Given the description of an element on the screen output the (x, y) to click on. 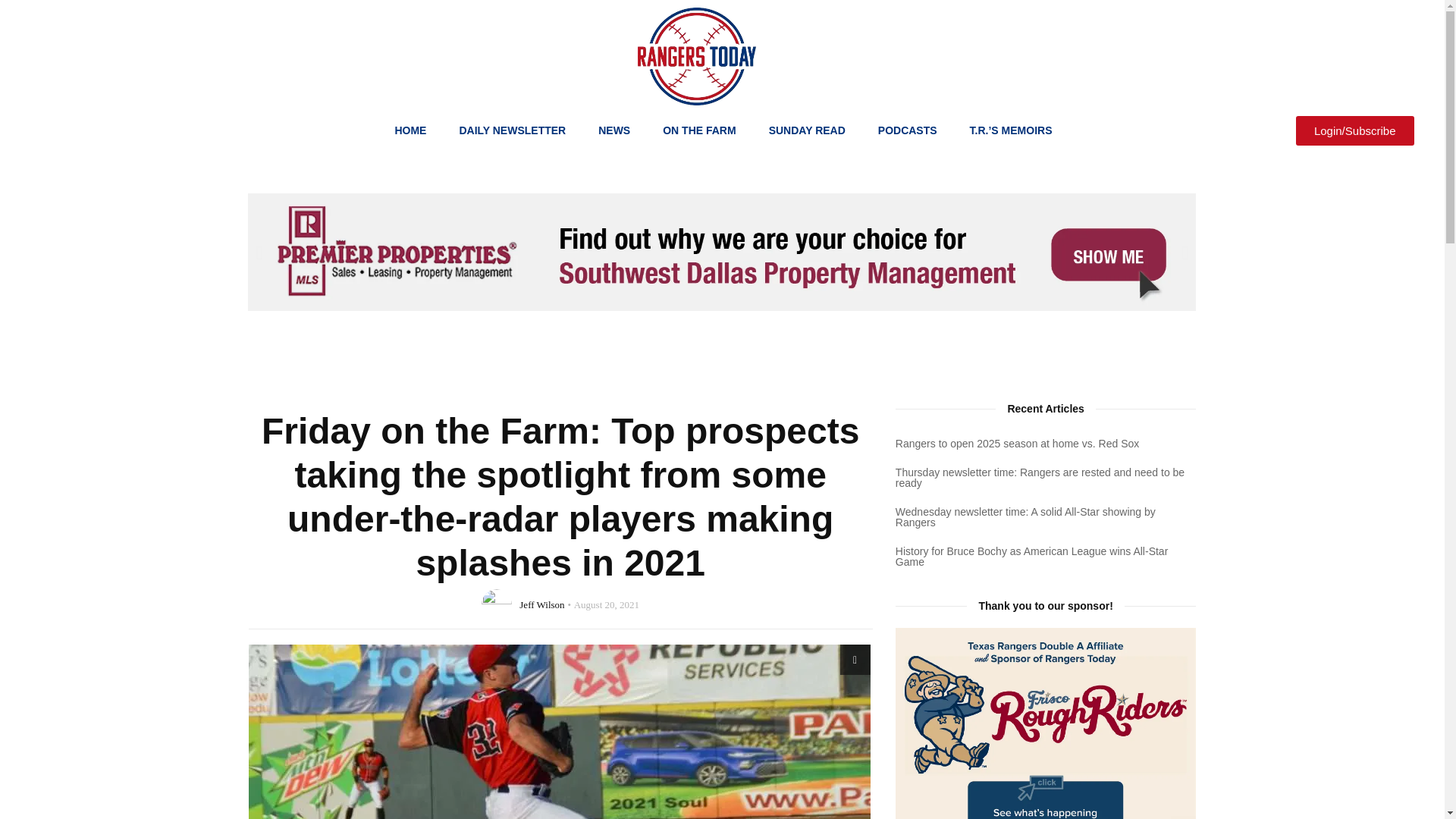
HOME (409, 130)
ON THE FARM (699, 130)
SUNDAY READ (807, 130)
DAILY NEWSLETTER (512, 130)
Jeff Wilson (541, 604)
From Triumph Books and Rangers Today (1045, 723)
NEWS (614, 130)
PODCASTS (907, 130)
